Given the description of an element on the screen output the (x, y) to click on. 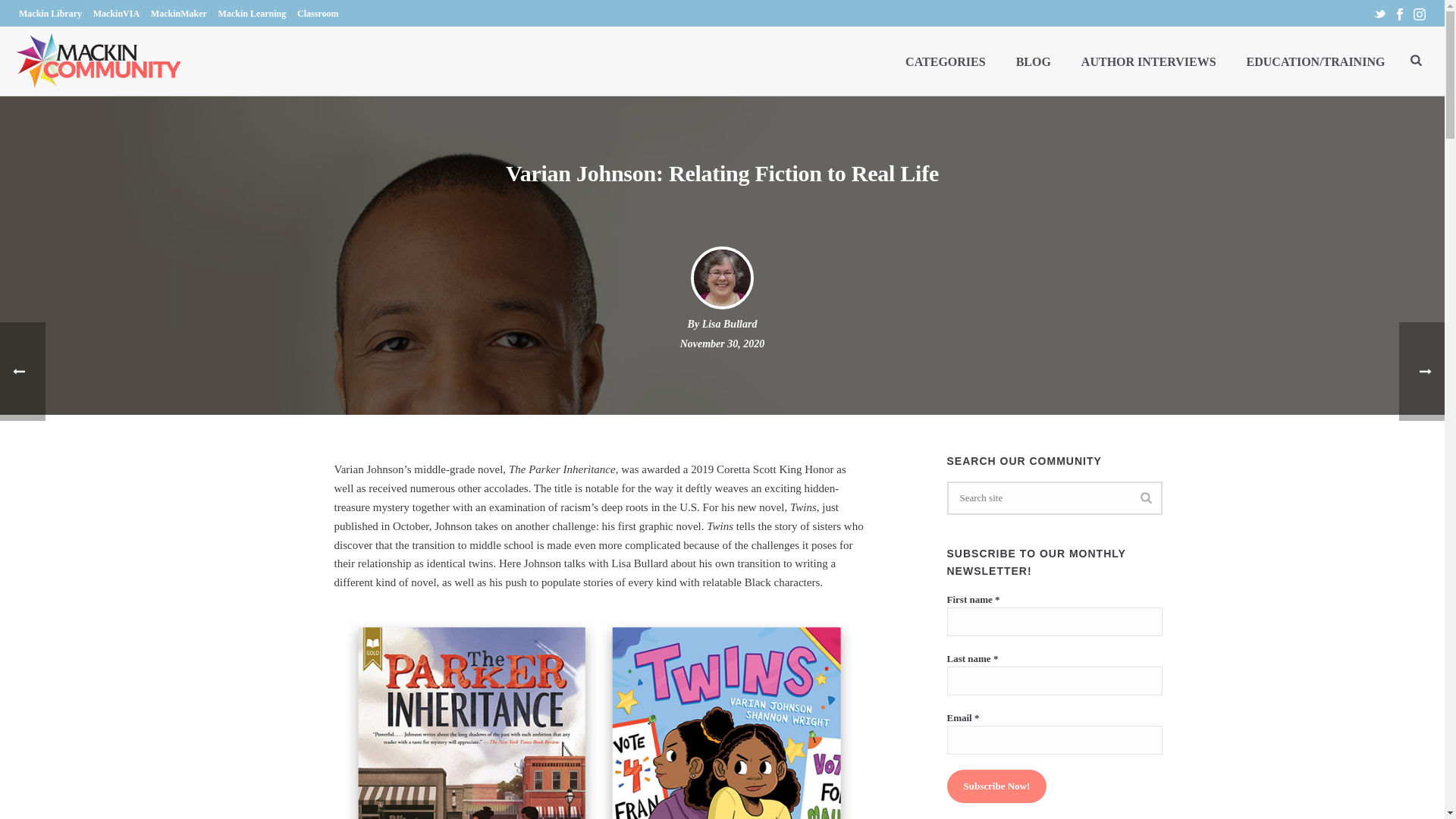
CATEGORIES (945, 60)
AUTHOR INTERVIEWS (1148, 60)
Mackin Learning (252, 13)
BLOG (1033, 60)
MackinMaker (179, 13)
First name (1053, 621)
BLOG (1033, 60)
CATEGORIES (945, 60)
Classroom (318, 13)
Last name (1053, 680)
